Given the description of an element on the screen output the (x, y) to click on. 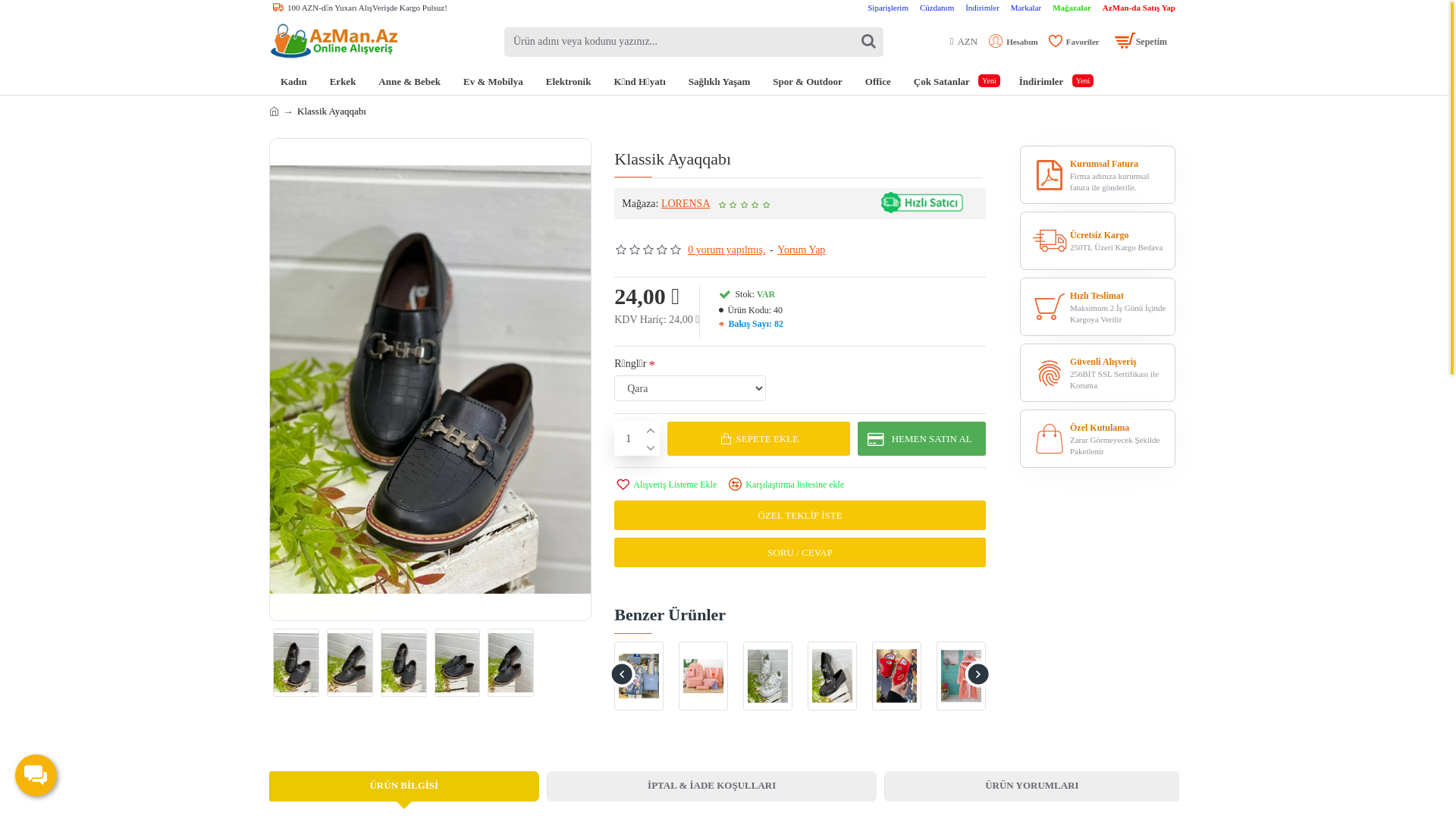
Sepetim Element type: text (1146, 41)
Pamuk Bornoz Element type: hover (961, 676)
Spor & Outdoor Element type: text (807, 81)
Erkek Element type: text (342, 81)
Krasovka Element type: hover (767, 676)
LORENSA Element type: text (685, 203)
Ev & Mobilya Element type: text (492, 81)
AzMan.Az Element type: hover (336, 41)
SEPETE EKLE Element type: text (758, 438)
Anne & Bebek Element type: text (409, 81)
Yorum Yap Element type: text (801, 249)
Office Element type: text (877, 81)
HEMEN SATIN AL Element type: text (921, 438)
Favoriler Element type: text (1073, 41)
Elektronik Element type: text (568, 81)
SORU / CEVAP Element type: text (799, 552)
